Given the description of an element on the screen output the (x, y) to click on. 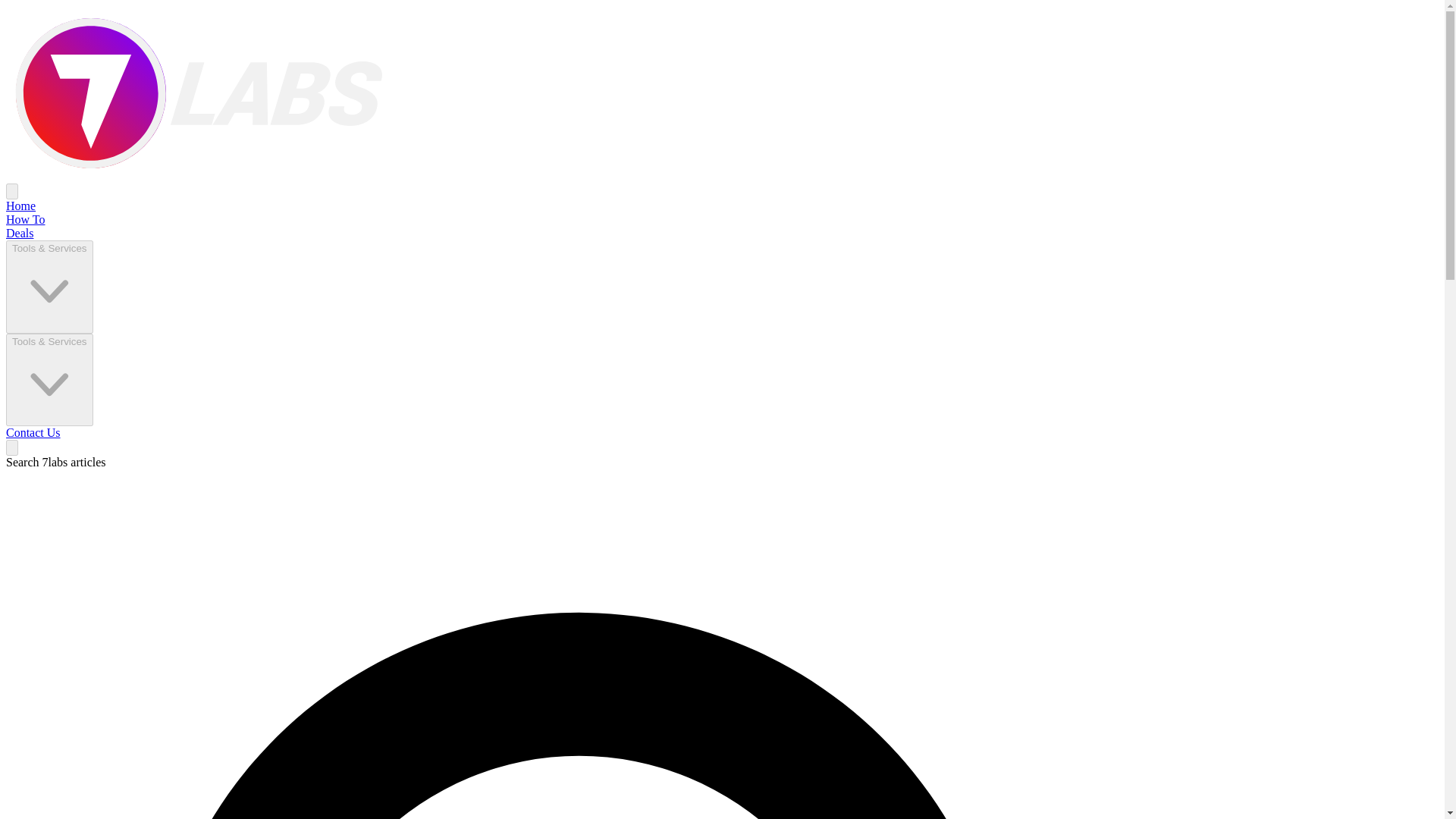
Contact Us (33, 431)
Home (19, 205)
How To (25, 219)
Deals (19, 232)
